Given the description of an element on the screen output the (x, y) to click on. 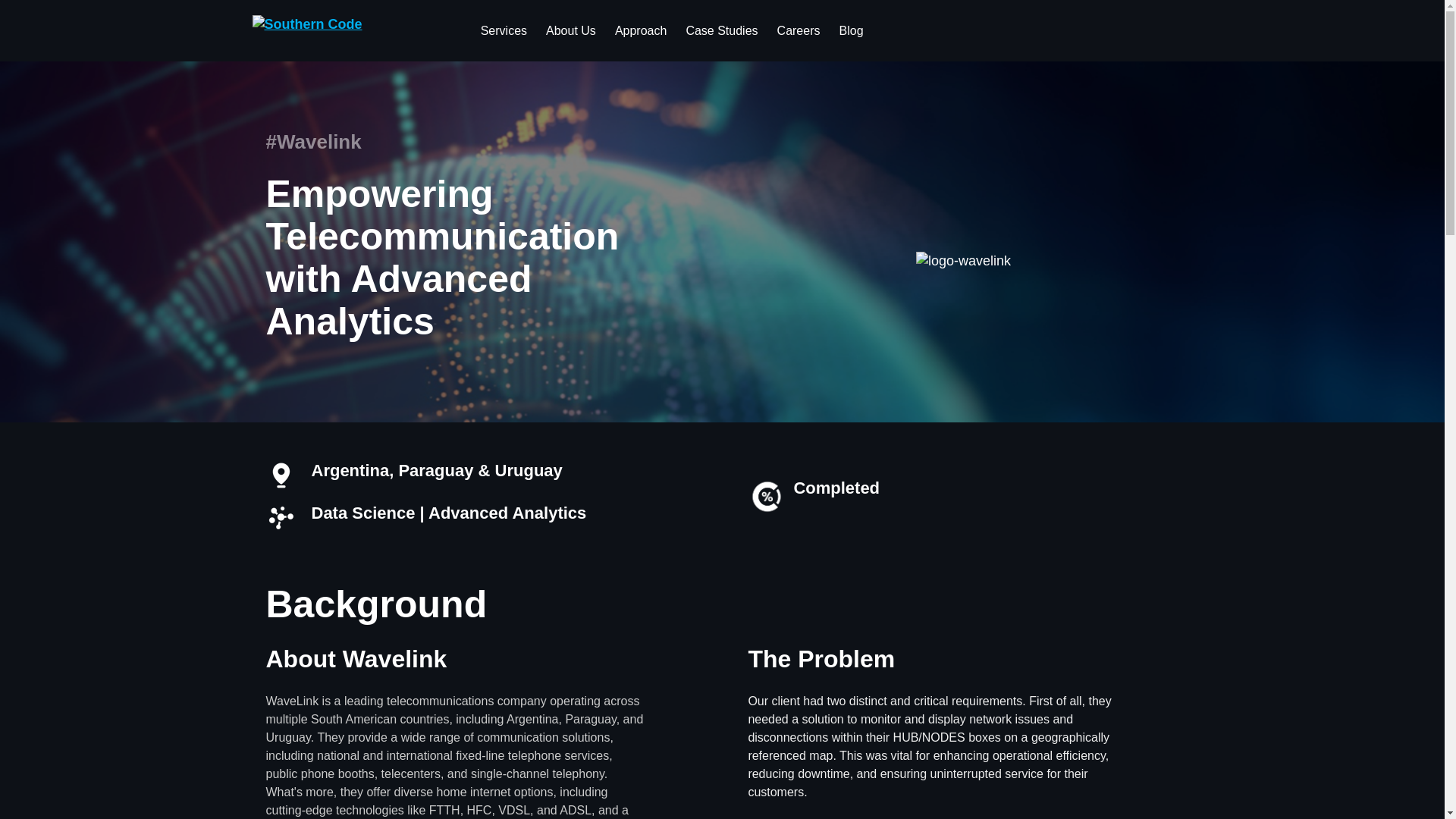
Blog (850, 30)
Careers (799, 30)
About Us (571, 30)
Case Studies (721, 30)
Approach (641, 30)
Services (503, 30)
